Given the description of an element on the screen output the (x, y) to click on. 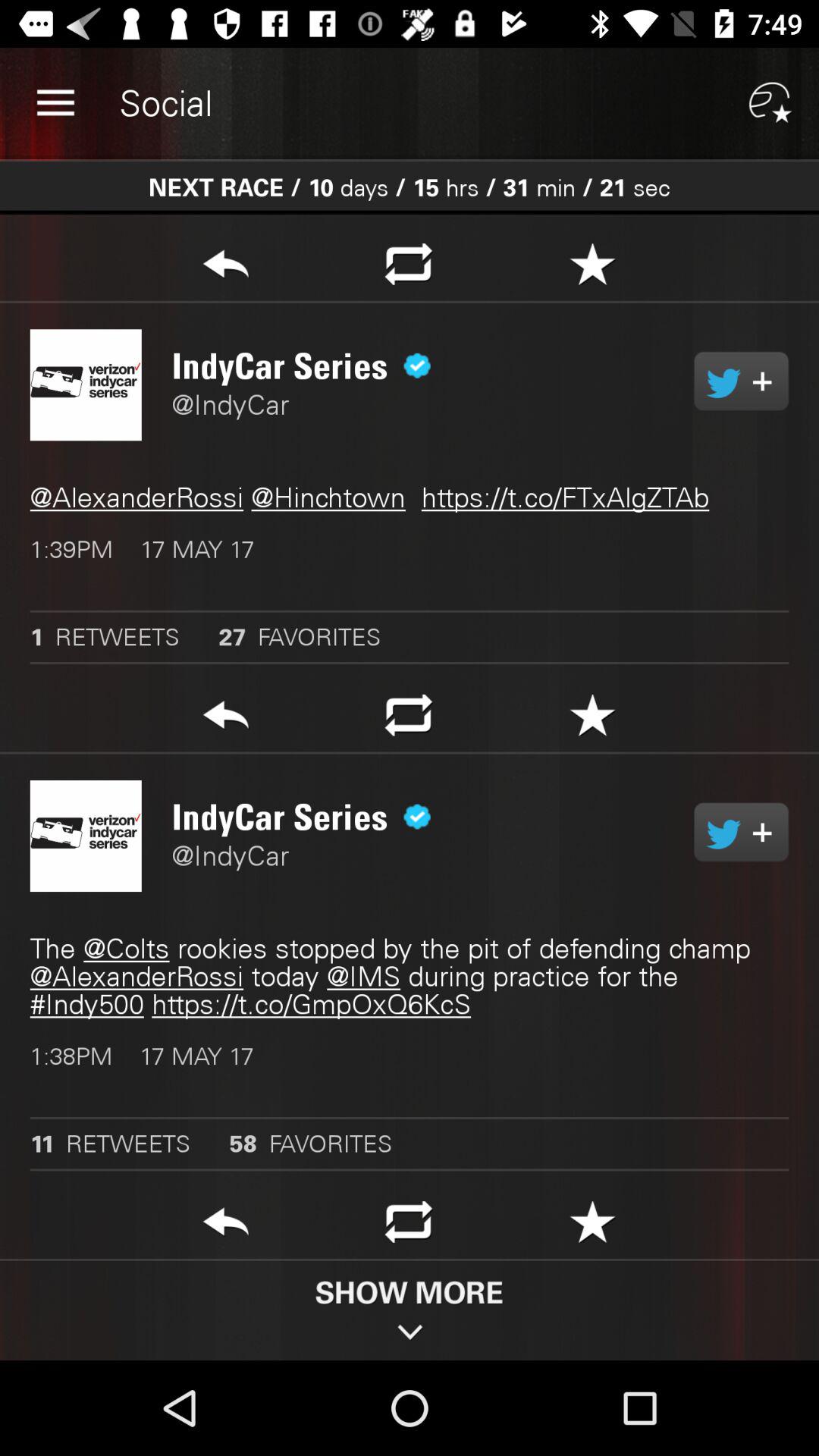
adds a tweet (740, 831)
